Given the description of an element on the screen output the (x, y) to click on. 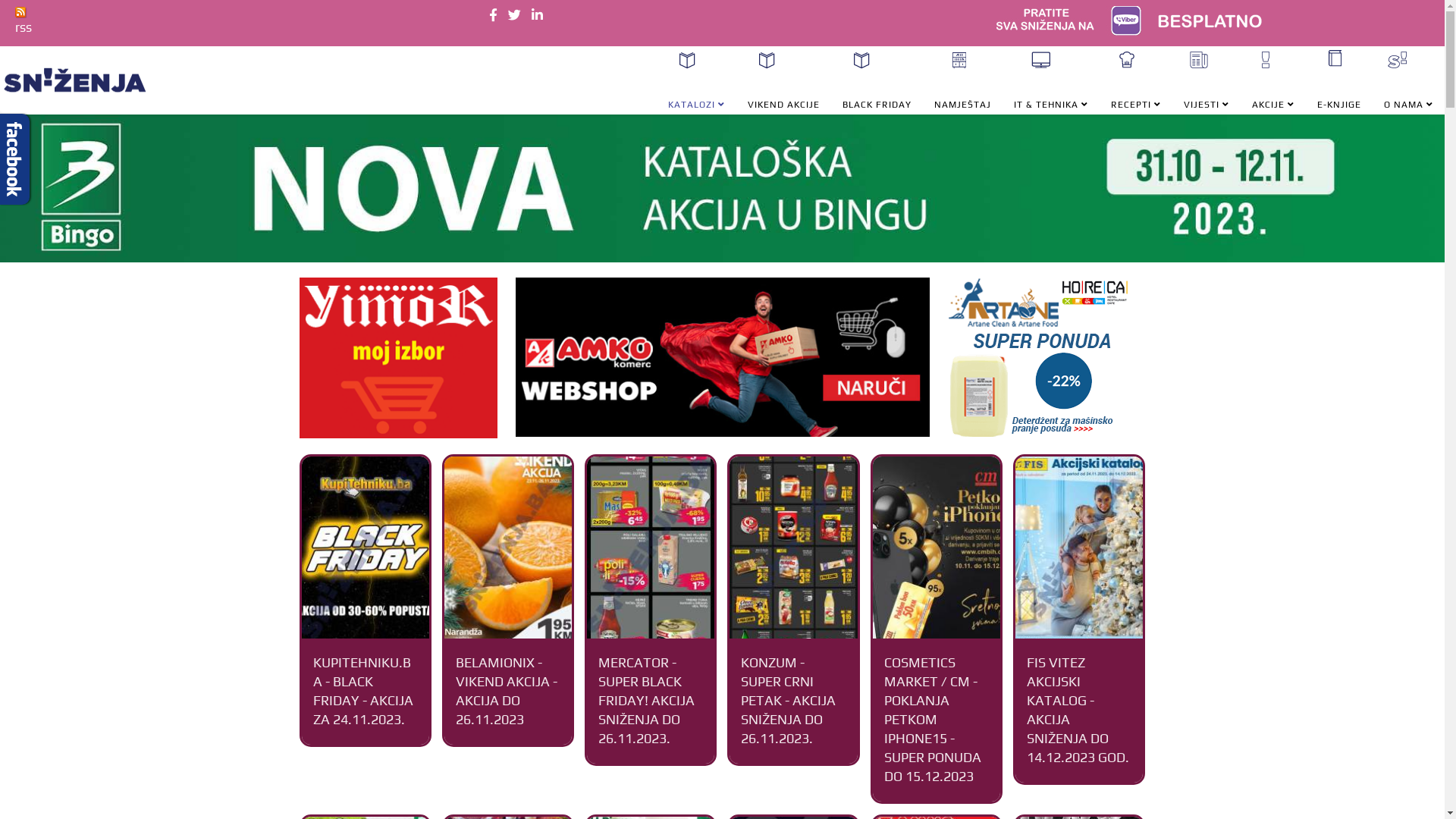
ARTANE Element type: hover (1046, 358)
RECEPTI Element type: text (1135, 93)
KATALOZI Element type: text (696, 93)
VIJESTI Element type: text (1206, 93)
VIKEND AKCIJE Element type: text (783, 93)
KUPITEHNIKU.BA - BLACK FRIDAY - AKCIJA ZA 24.11.2023. Element type: text (362, 690)
O NAMA Element type: text (1408, 93)
E-KNJIGE Element type: text (1338, 92)
BINGO Element type: hover (722, 188)
MEGA DISKONT - YIMOR Element type: hover (397, 357)
AMKOVELIKI Element type: hover (722, 356)
BLACK FRIDAY Element type: text (876, 93)
IT & TEHNIKA Element type: text (1050, 93)
BELAMIONIX - VIKEND AKCIJA - AKCIJA DO 26.11.2023 Element type: text (506, 690)
rss Element type: text (23, 20)
AKCIJE Element type: text (1272, 93)
